Given the description of an element on the screen output the (x, y) to click on. 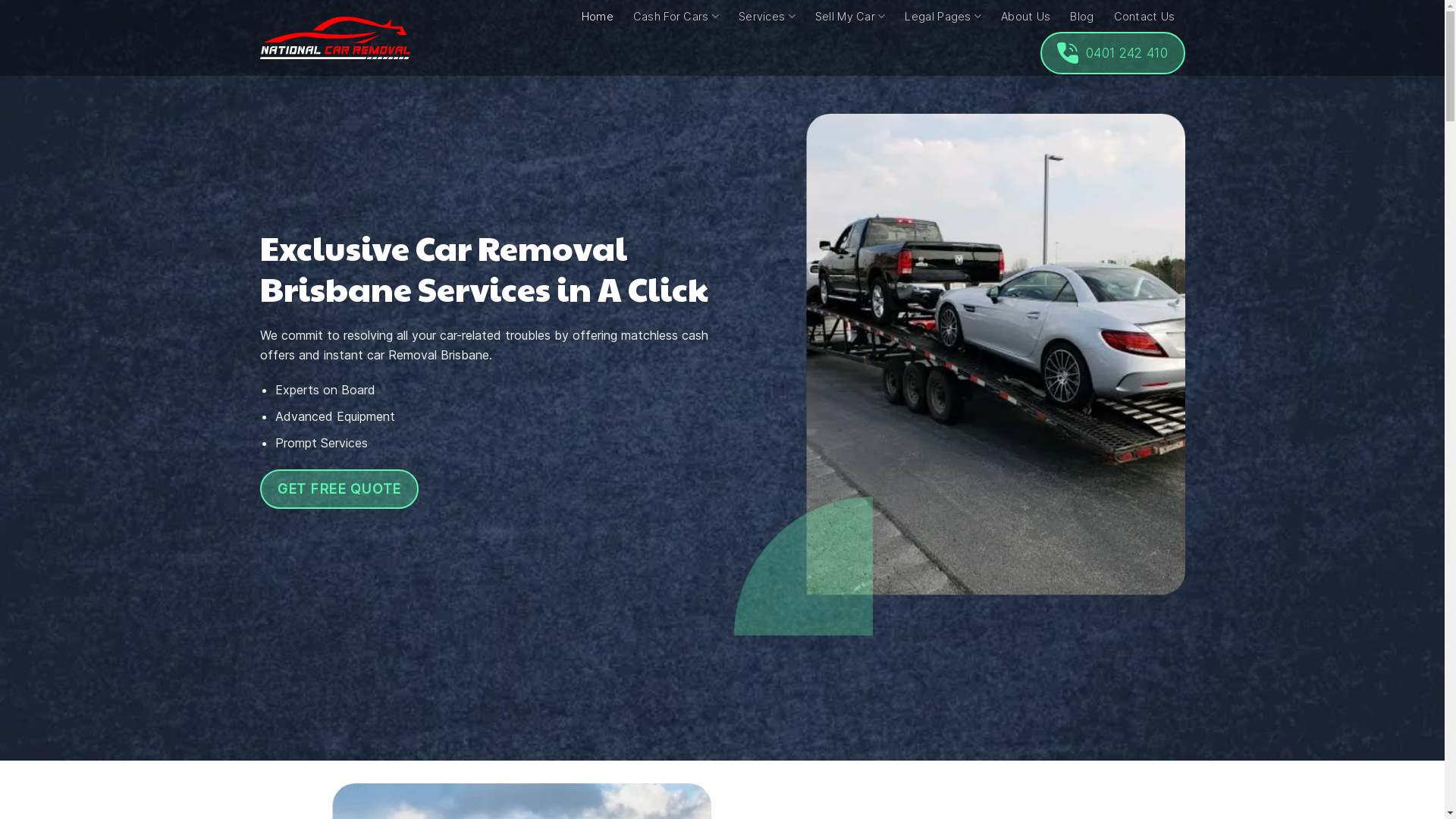
Blog Element type: text (1081, 16)
Legal Pages Element type: text (942, 16)
GET FREE QUOTE Element type: text (338, 488)
0401 242 410 Element type: text (1112, 52)
Contact Us Element type: text (1144, 16)
Home Element type: text (597, 16)
Skip to content Element type: text (0, 0)
National Car Removal - national car removal Element type: hover (334, 37)
Cash For Cars Element type: text (675, 16)
Sell My Car Element type: text (850, 16)
Services Element type: text (766, 16)
About Us Element type: text (1025, 16)
